Given the description of an element on the screen output the (x, y) to click on. 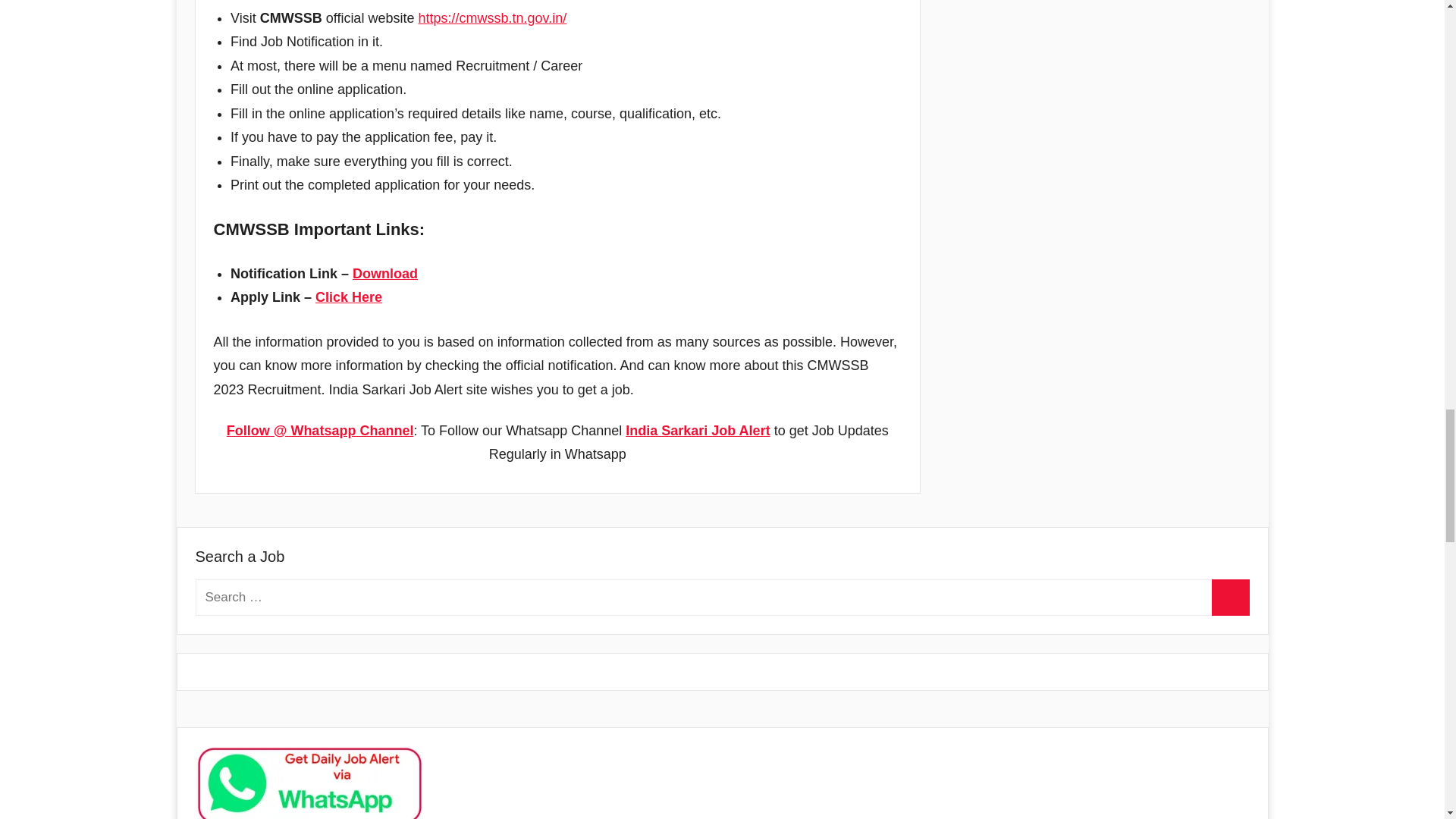
Search for: (722, 597)
Click Here (348, 296)
Download (384, 273)
India Sarkari Job Alert (698, 430)
Search (1230, 597)
